Given the description of an element on the screen output the (x, y) to click on. 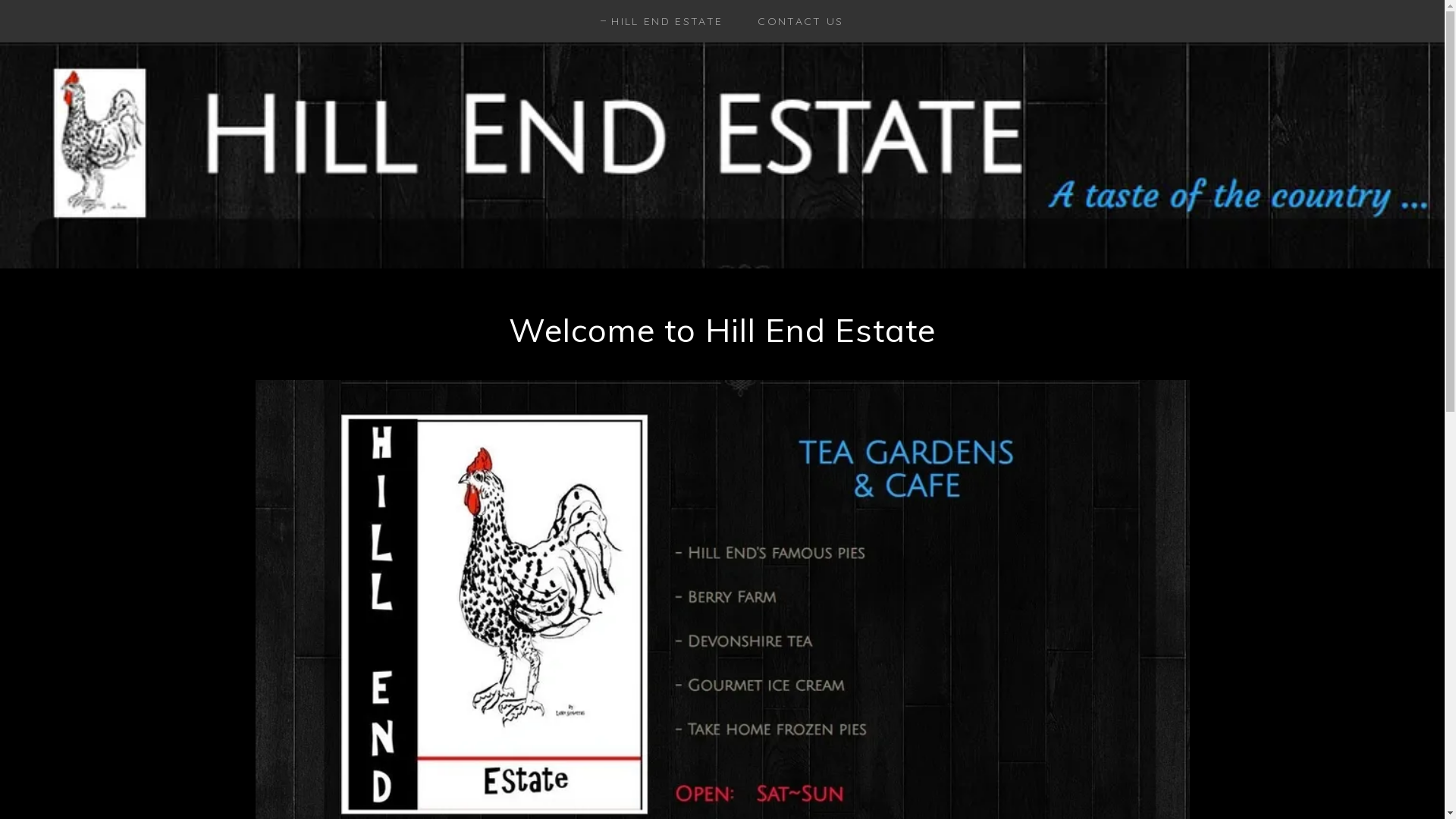
CONTACT US Element type: text (794, 20)
HILL END ESTATE Element type: text (661, 21)
